Given the description of an element on the screen output the (x, y) to click on. 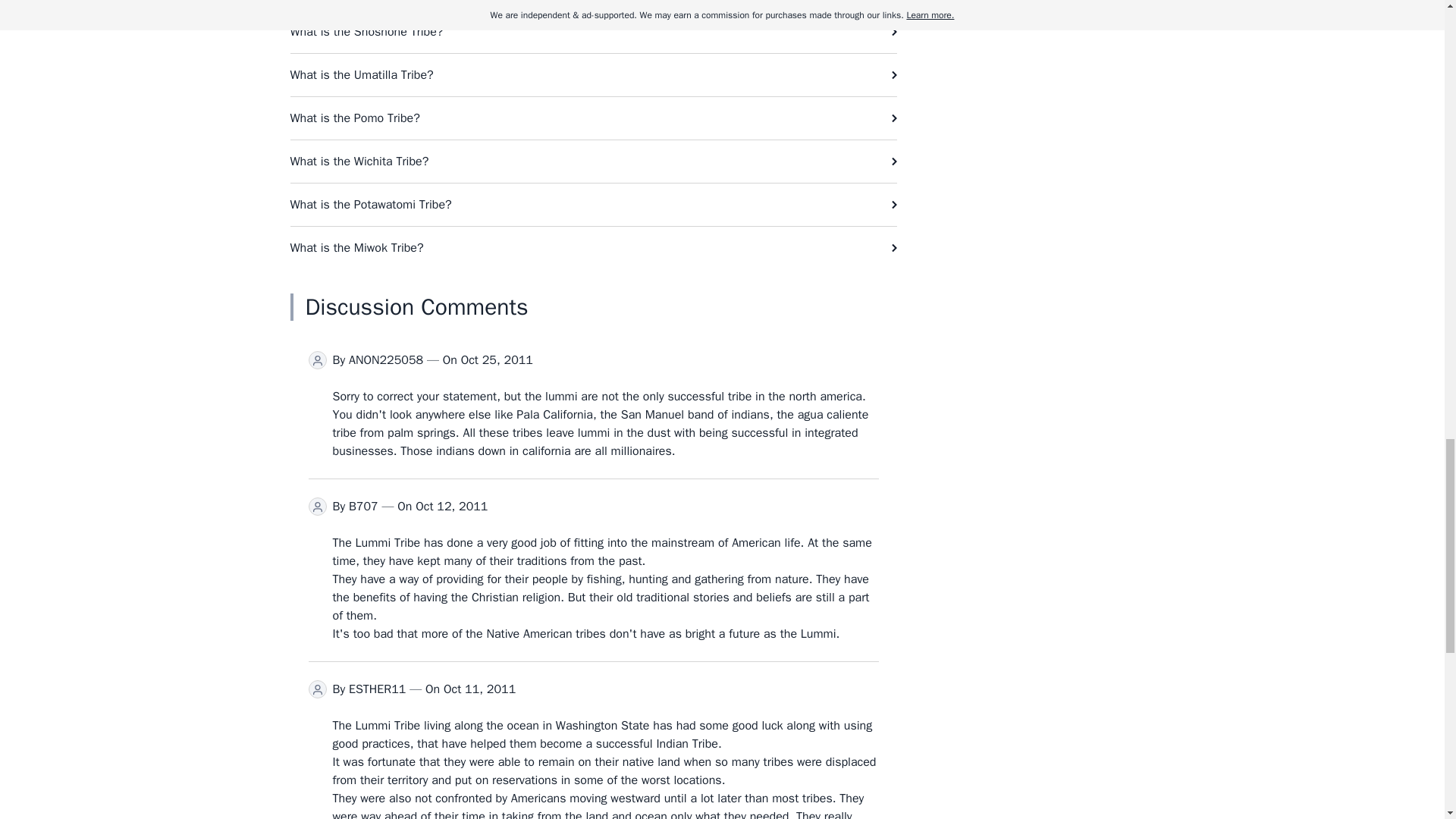
What is the Hupa Tribe? (592, 4)
What is the Shoshone Tribe? (592, 31)
